Given the description of an element on the screen output the (x, y) to click on. 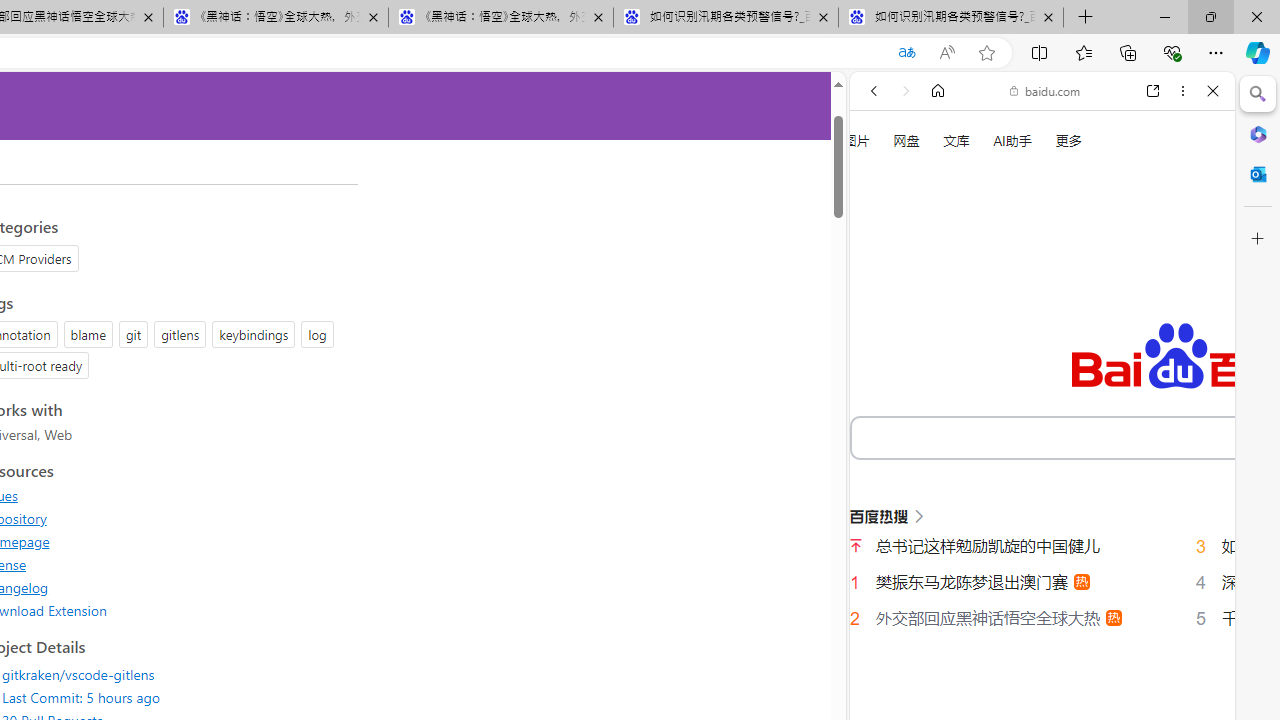
Outlook (1258, 174)
Open link in new tab (1153, 91)
Search Filter, WEB (882, 339)
English (US) (1042, 579)
Customize (1258, 239)
Microsoft 365 (1258, 133)
WEB   (882, 339)
